Given the description of an element on the screen output the (x, y) to click on. 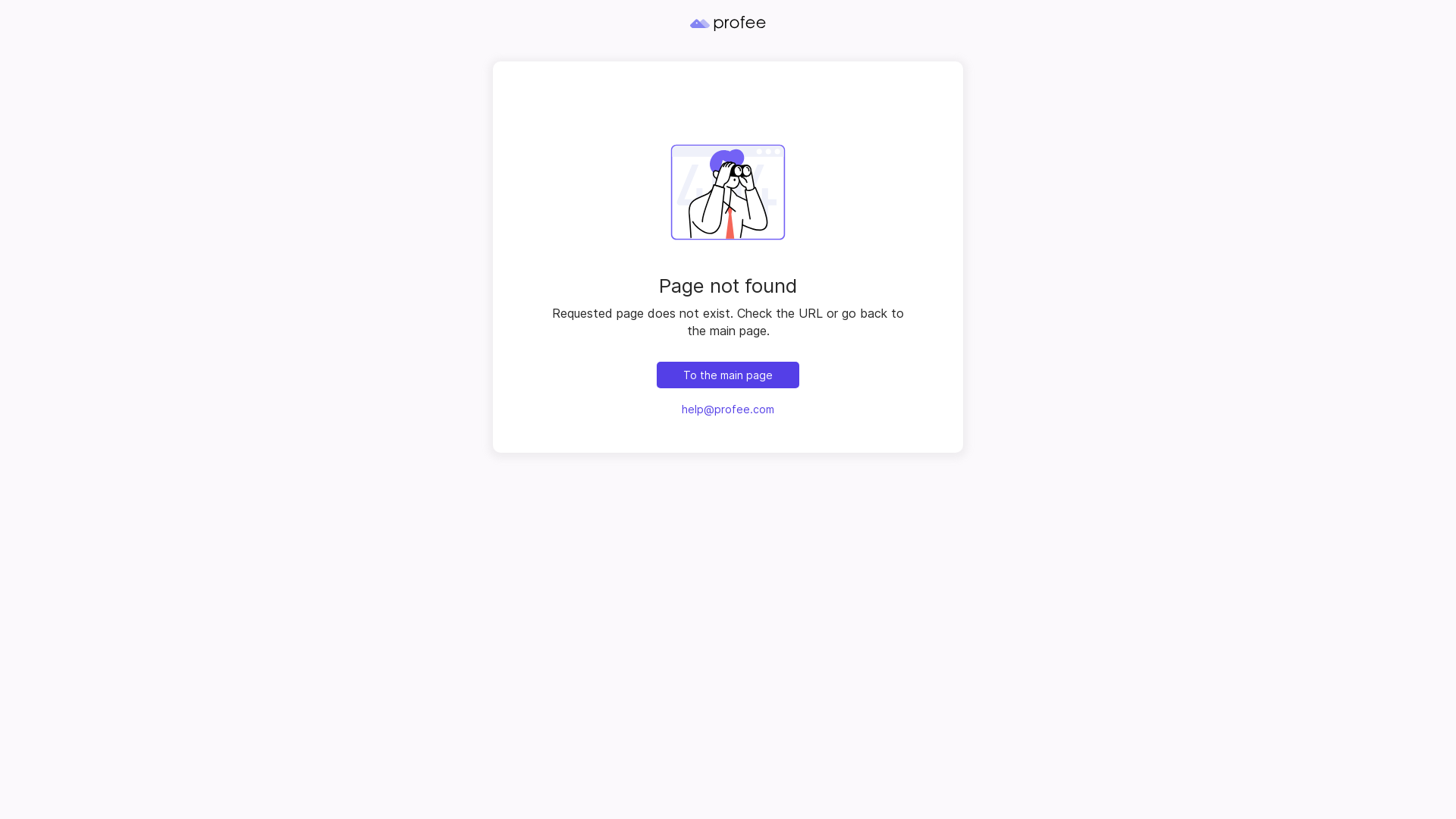
To the main page (727, 374)
